Given the description of an element on the screen output the (x, y) to click on. 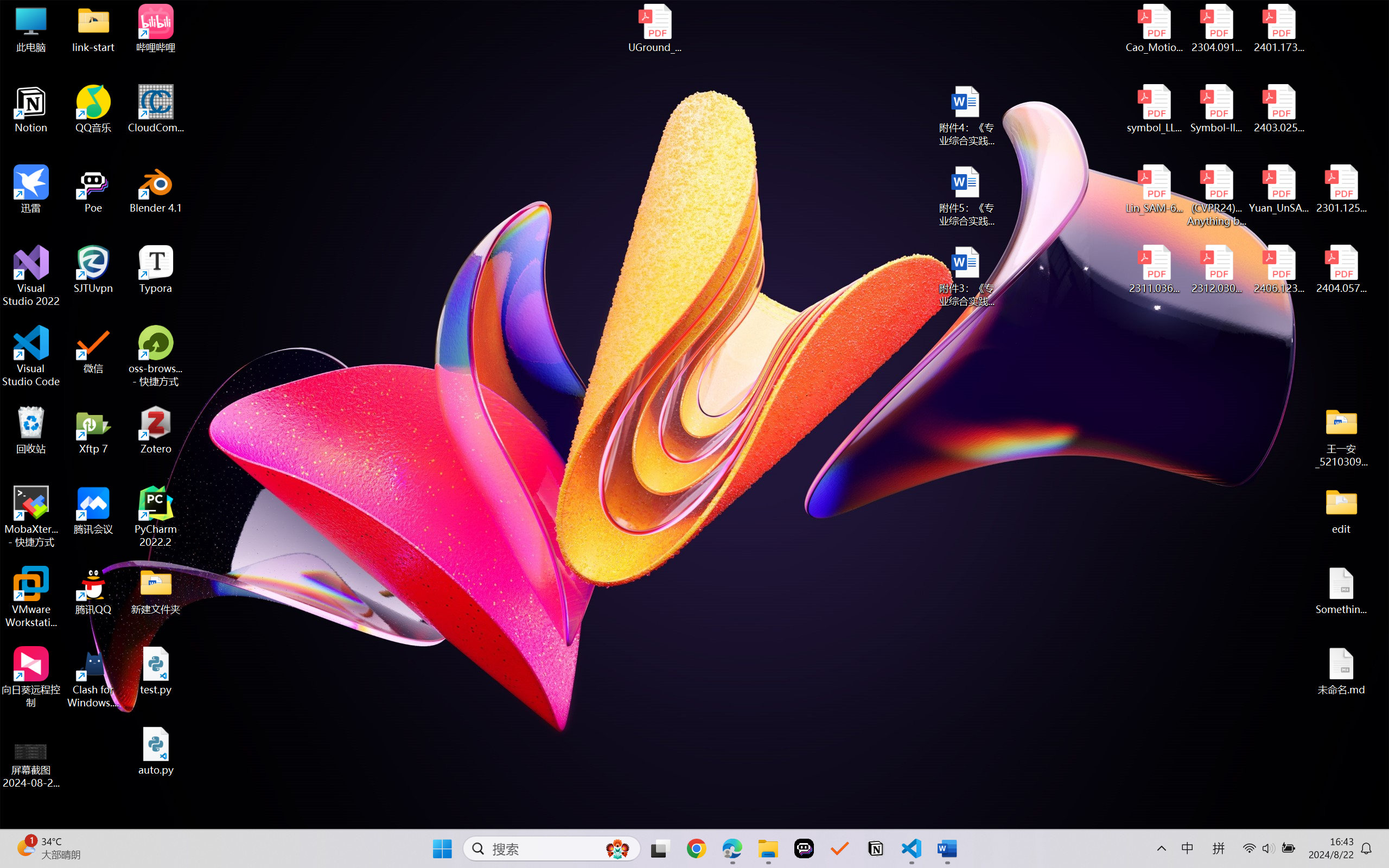
symbol_LLM.pdf (1154, 109)
PyCharm 2022.2 (156, 516)
VMware Workstation Pro (31, 597)
Something.md (1340, 591)
